Given the description of an element on the screen output the (x, y) to click on. 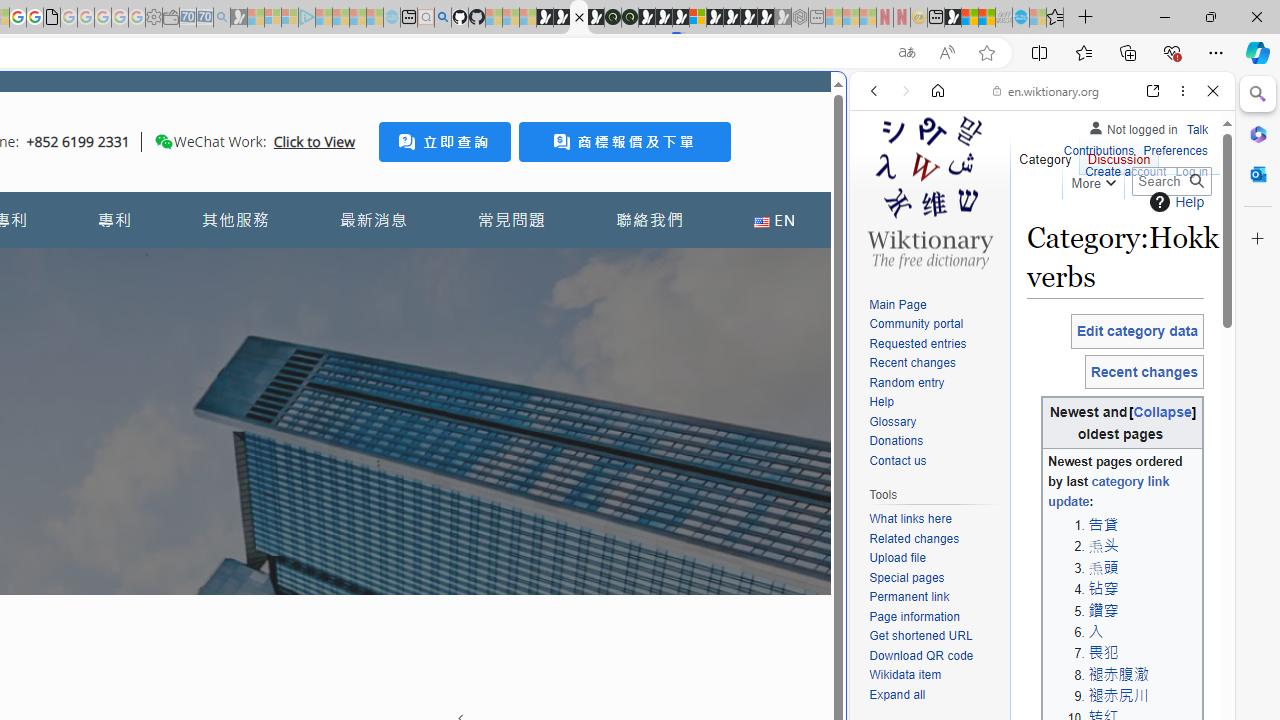
Search or enter web address (343, 191)
EN (774, 220)
Category (1045, 154)
Wiktionary (1034, 669)
Expand all (897, 694)
Search Wiktionary (1171, 181)
